Given the description of an element on the screen output the (x, y) to click on. 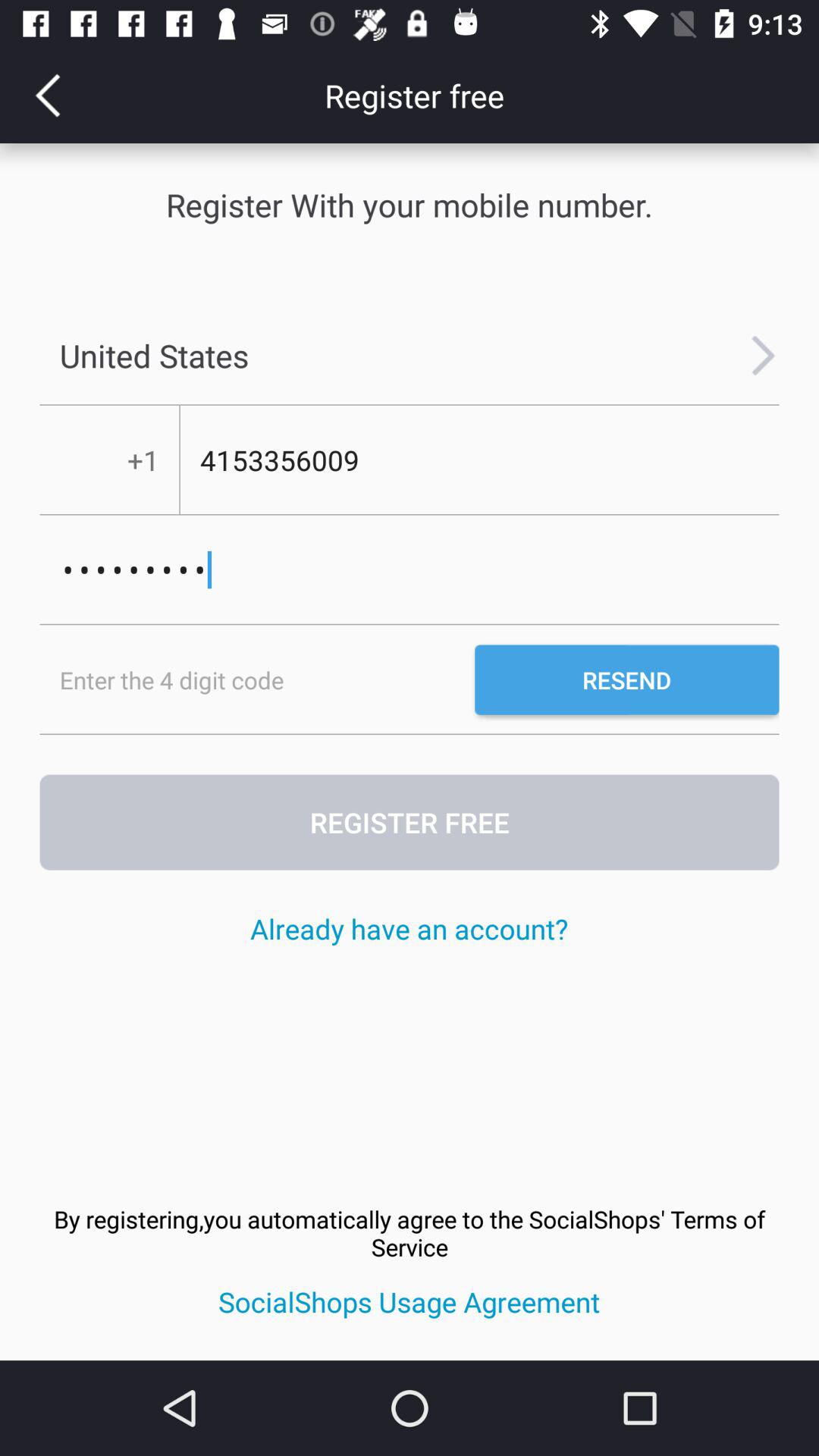
flip to the 4153356009 (479, 460)
